Given the description of an element on the screen output the (x, y) to click on. 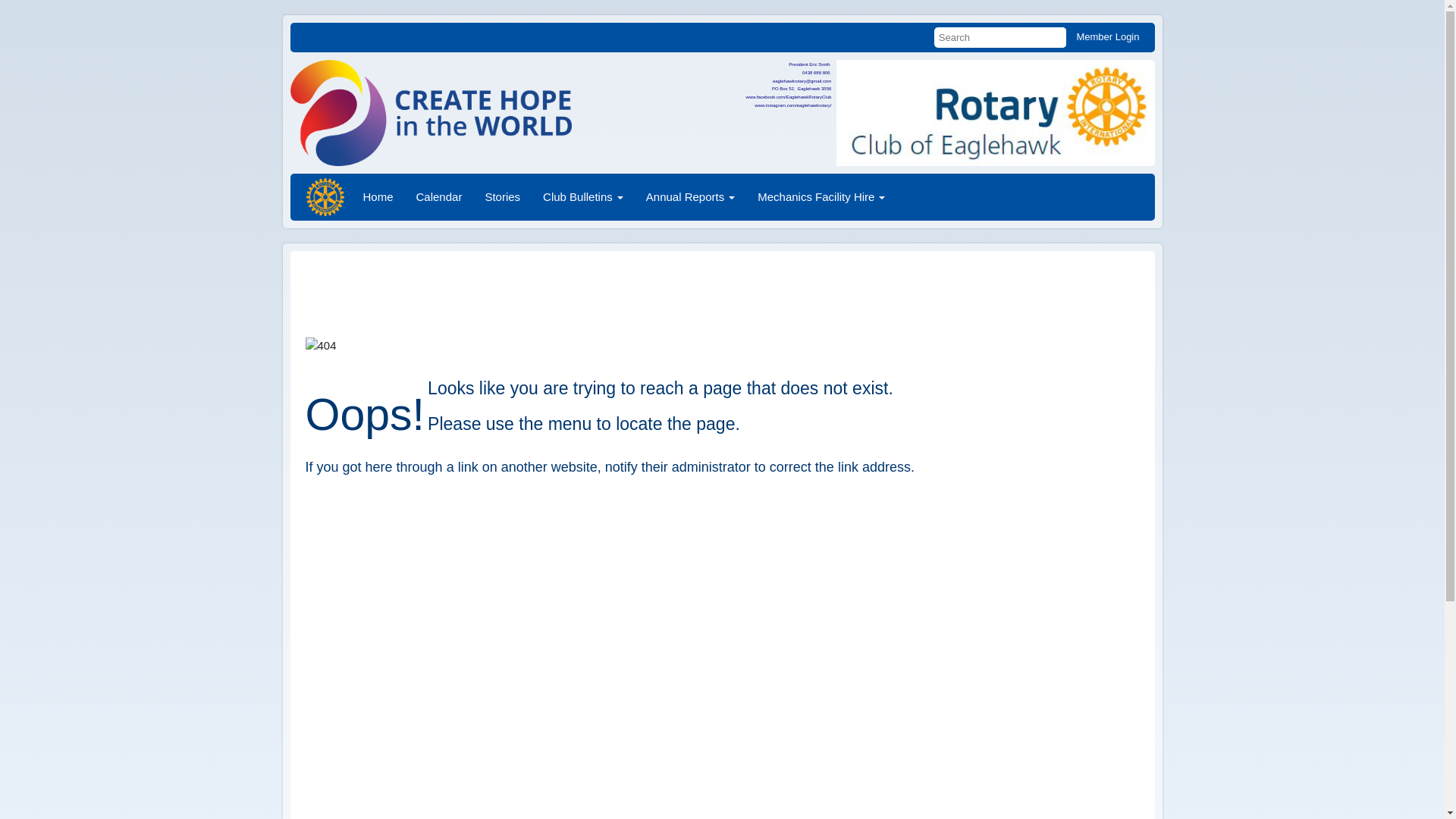
Calendar Element type: text (438, 197)
Member Login Element type: text (1107, 36)
Stories Element type: text (502, 197)
Mechanics Facility Hire Element type: text (821, 197)
Home Element type: text (377, 197)
Club Bulletins Element type: text (582, 197)
Annual Reports Element type: text (690, 197)
